Given the description of an element on the screen output the (x, y) to click on. 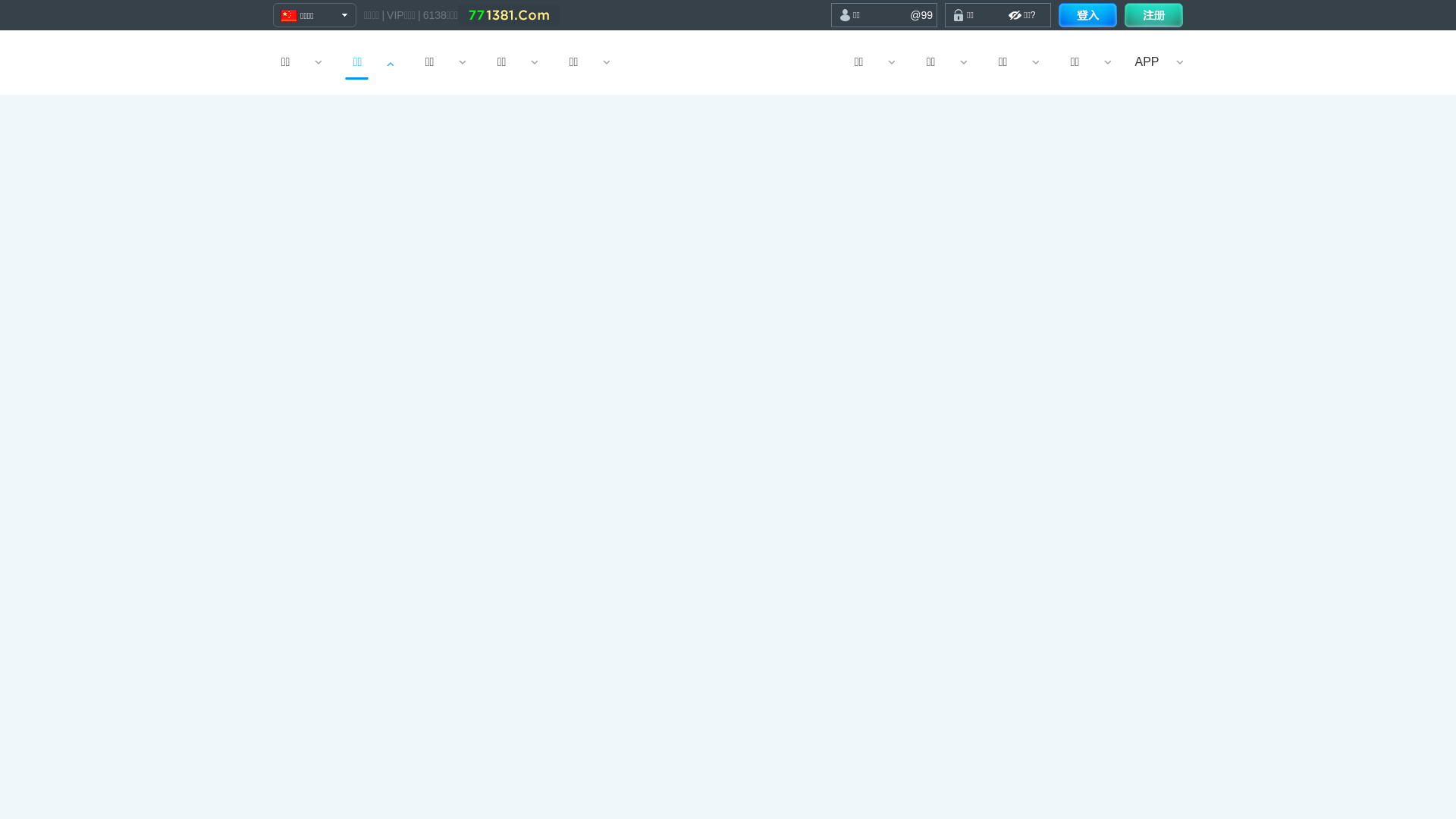
APP Element type: text (1146, 62)
